Given the description of an element on the screen output the (x, y) to click on. 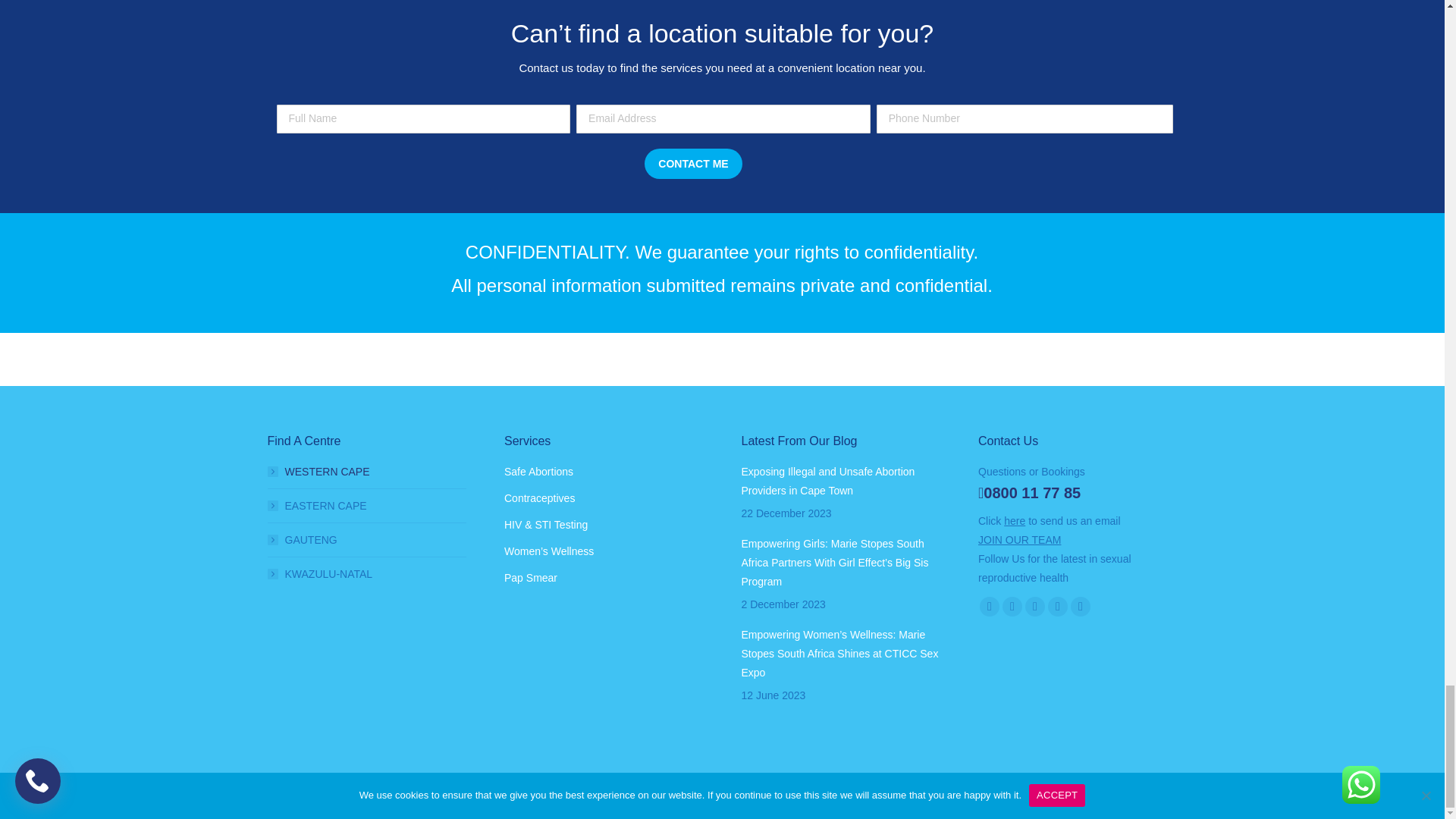
CONTACT ME (693, 163)
